Given the description of an element on the screen output the (x, y) to click on. 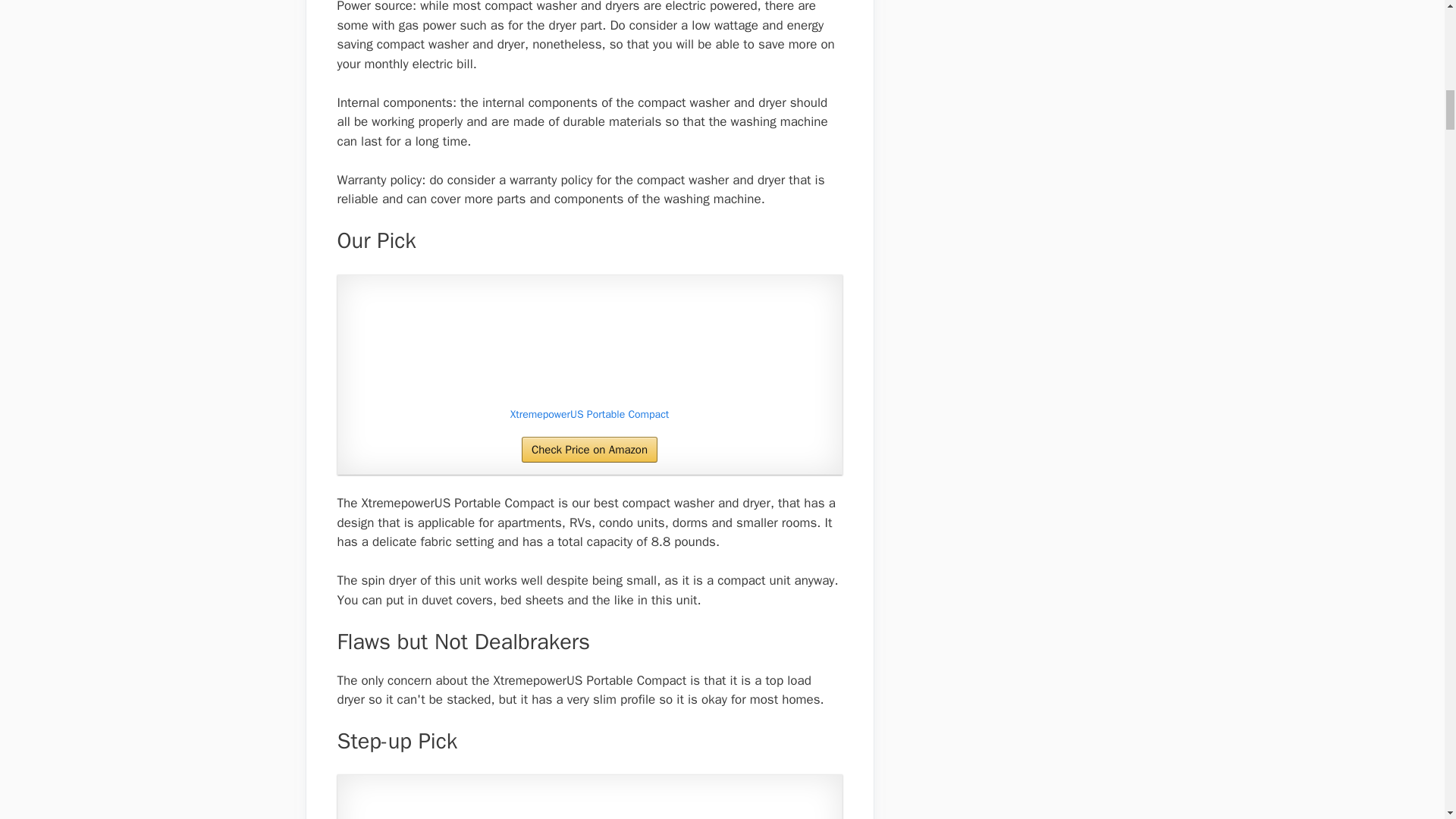
XtremepowerUS Portable Compact (589, 414)
Check Price on Amazon (589, 449)
Westland Splendide WD2100XC (589, 802)
XtremepowerUS Portable Compact (589, 414)
Best Compact Washer and Dryer 2 (589, 802)
Check Price on Amazon (589, 449)
XtremepowerUS Portable Compact (589, 343)
Best Compact Washer and Dryer 1 (589, 343)
